Given the description of an element on the screen output the (x, y) to click on. 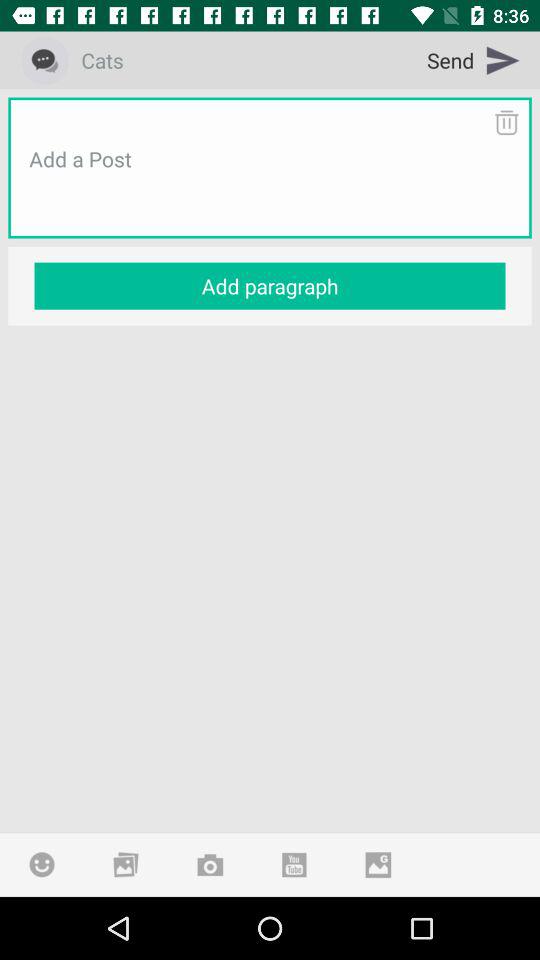
turn off the item at the bottom right corner (378, 864)
